Given the description of an element on the screen output the (x, y) to click on. 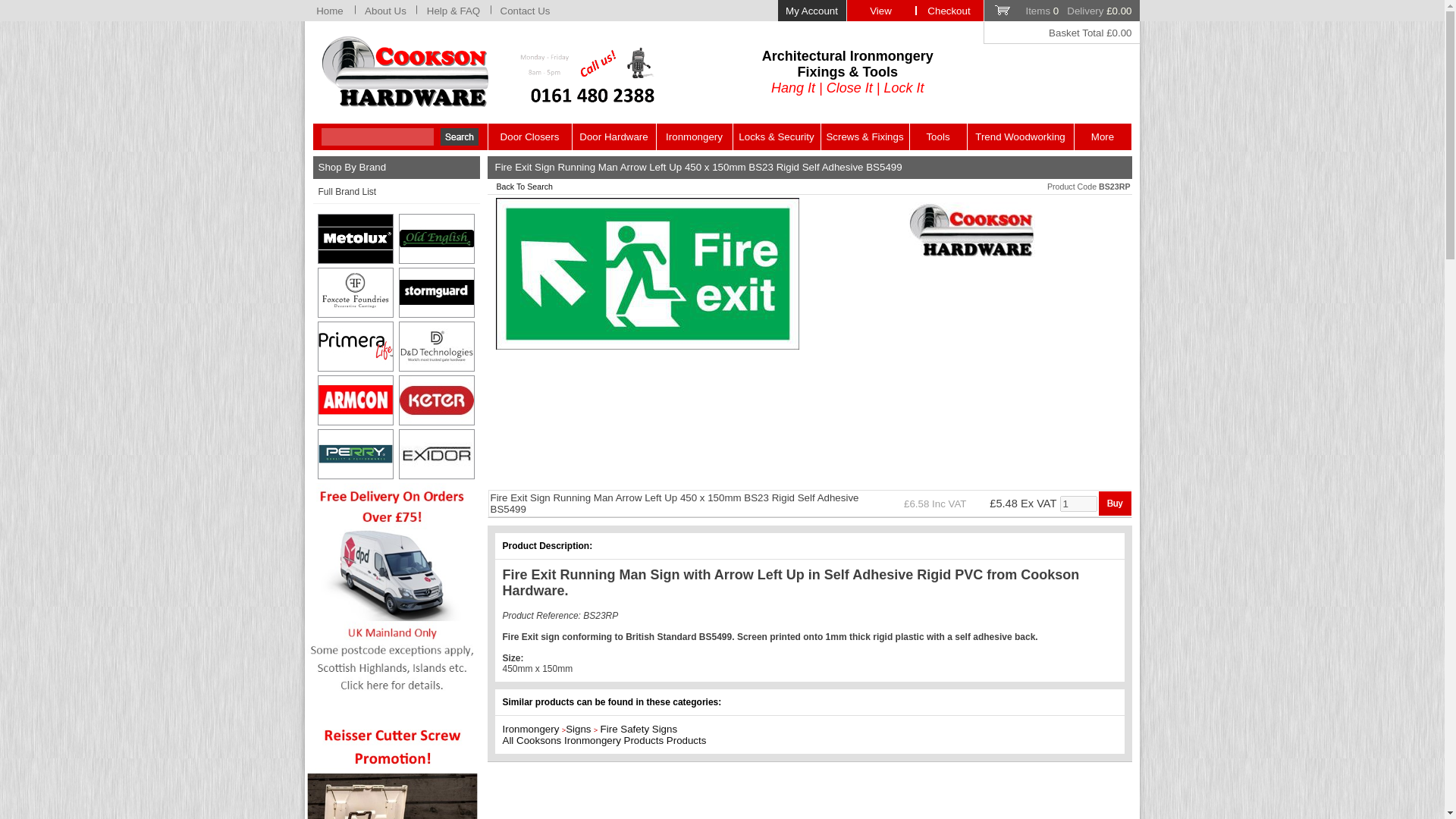
About Us (384, 10)
1 (1078, 503)
Full Brand List (396, 192)
Old English Door Handles and Accessories (436, 238)
Keter (436, 400)
Door Closers (529, 136)
Primera Life Anti-Ligature Hardware (355, 346)
Contact Us (525, 10)
Home (328, 10)
More (1102, 136)
Checkout (948, 10)
Ironmongery Products (971, 230)
View (879, 10)
Tools (938, 136)
Door Hardware (613, 136)
